Given the description of an element on the screen output the (x, y) to click on. 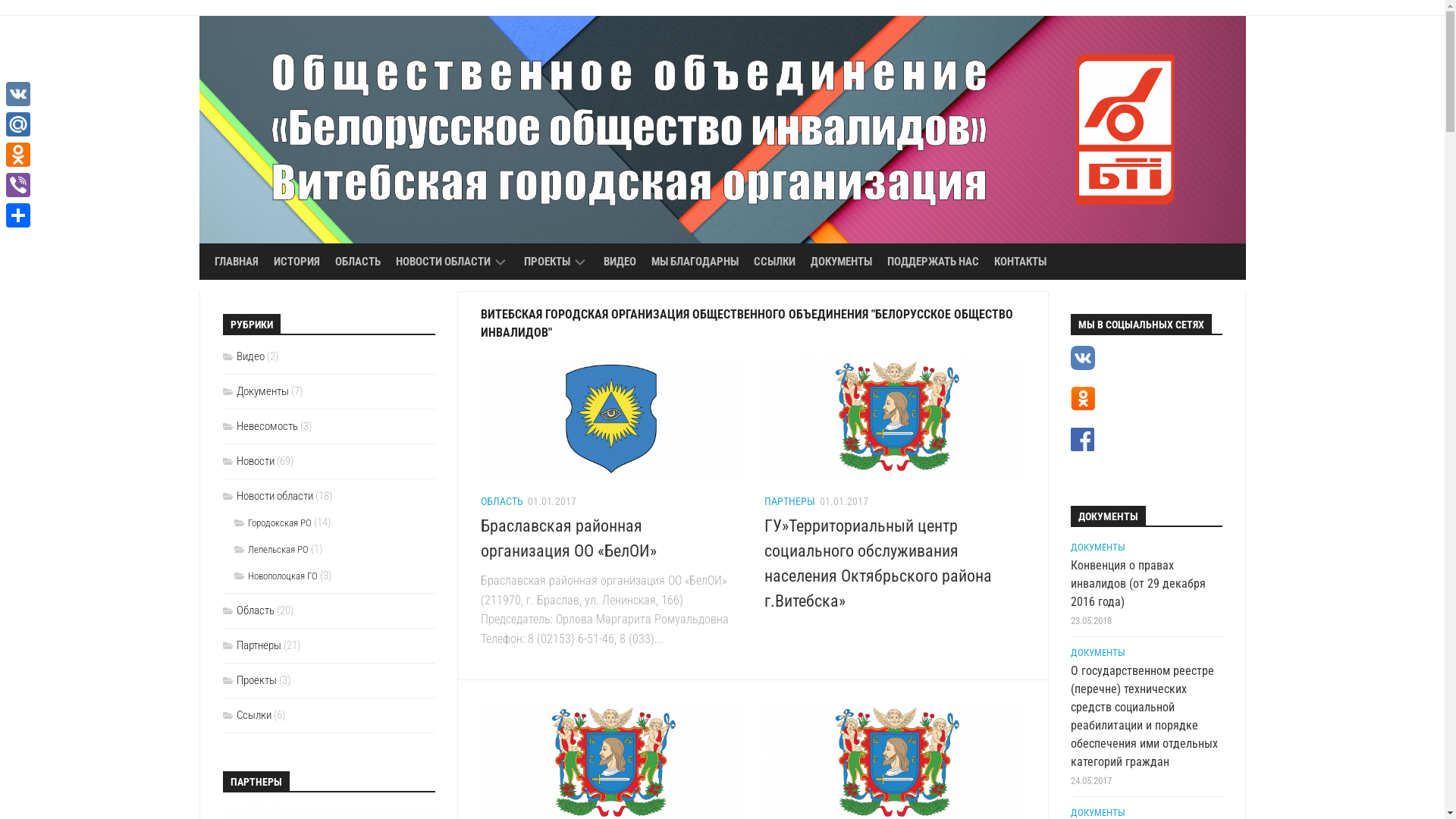
Odnoklassniki Element type: text (18, 154)
Viber Element type: text (18, 184)
VK Element type: text (18, 93)
Mail.Ru Element type: text (18, 124)
